Given the description of an element on the screen output the (x, y) to click on. 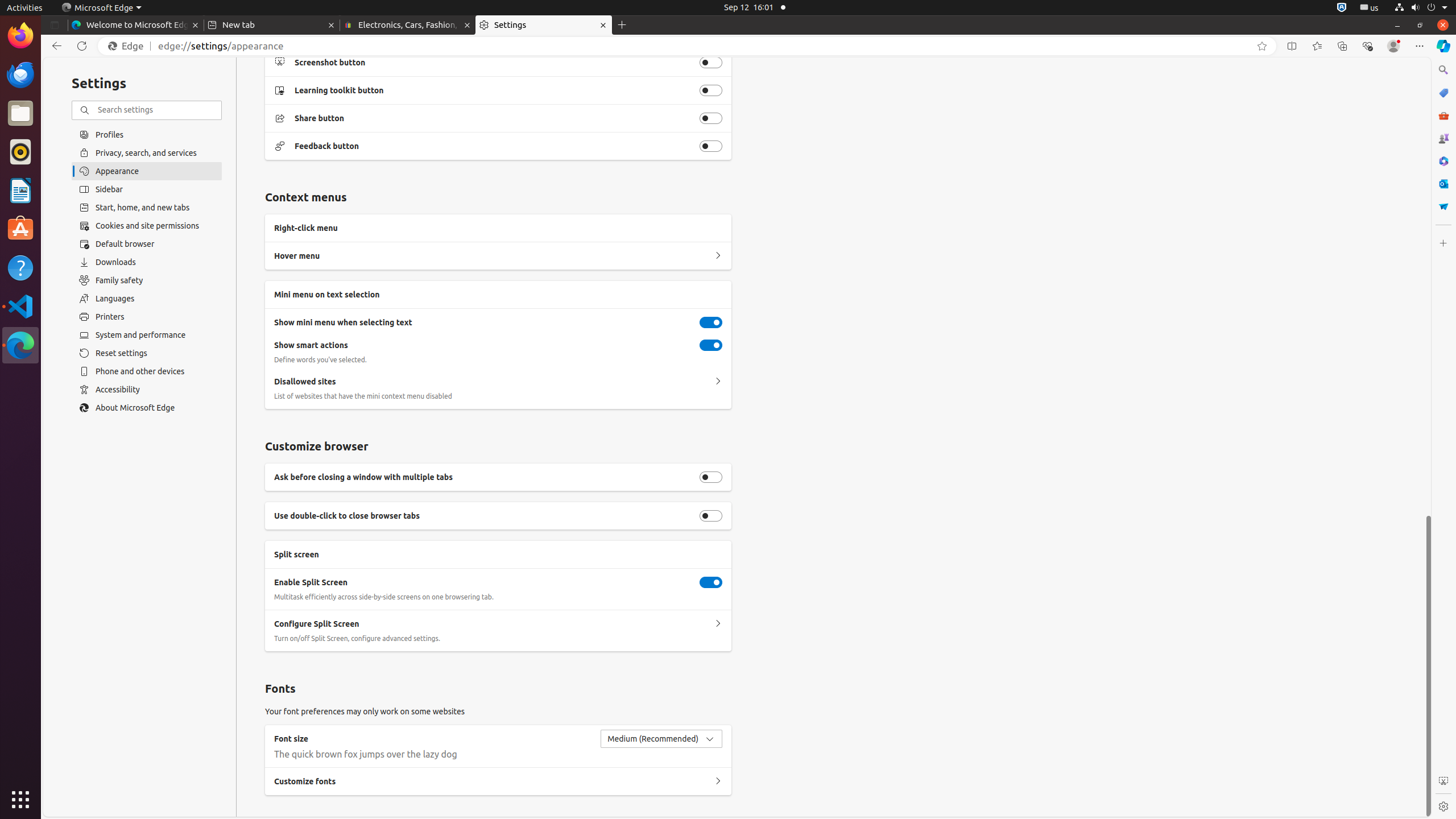
Hover menu Element type: push-button (717, 255)
System Element type: menu (1420, 7)
Default browser Element type: tree-item (146, 243)
Enable Split Screen Element type: check-box (710, 582)
Microsoft 365 Element type: push-button (1443, 160)
